Given the description of an element on the screen output the (x, y) to click on. 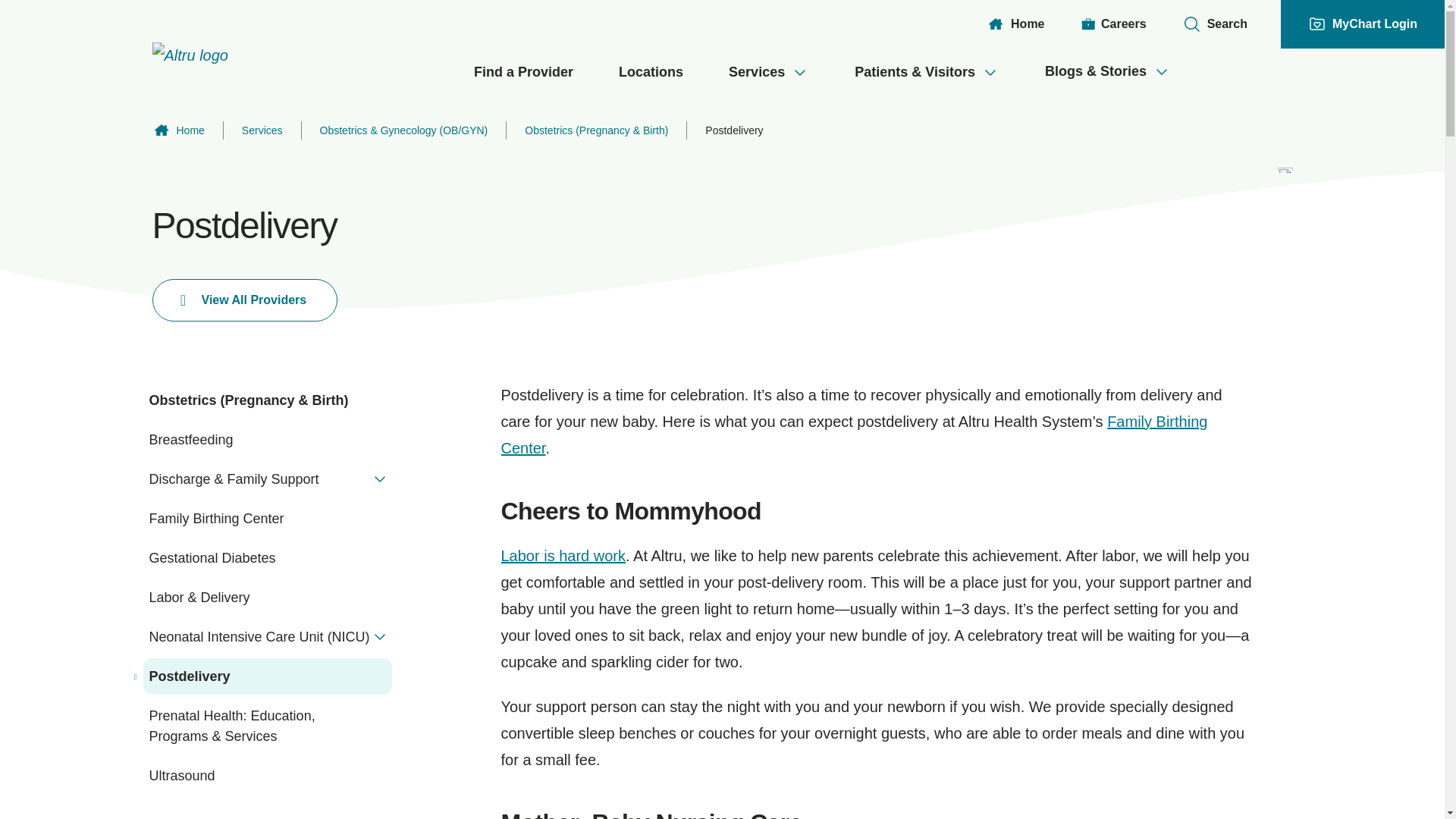
Search (1214, 24)
Services (768, 72)
Locations (651, 72)
Find a Provider (523, 72)
Home (1015, 24)
Family Birthing Center (853, 434)
Careers (1113, 24)
